Given the description of an element on the screen output the (x, y) to click on. 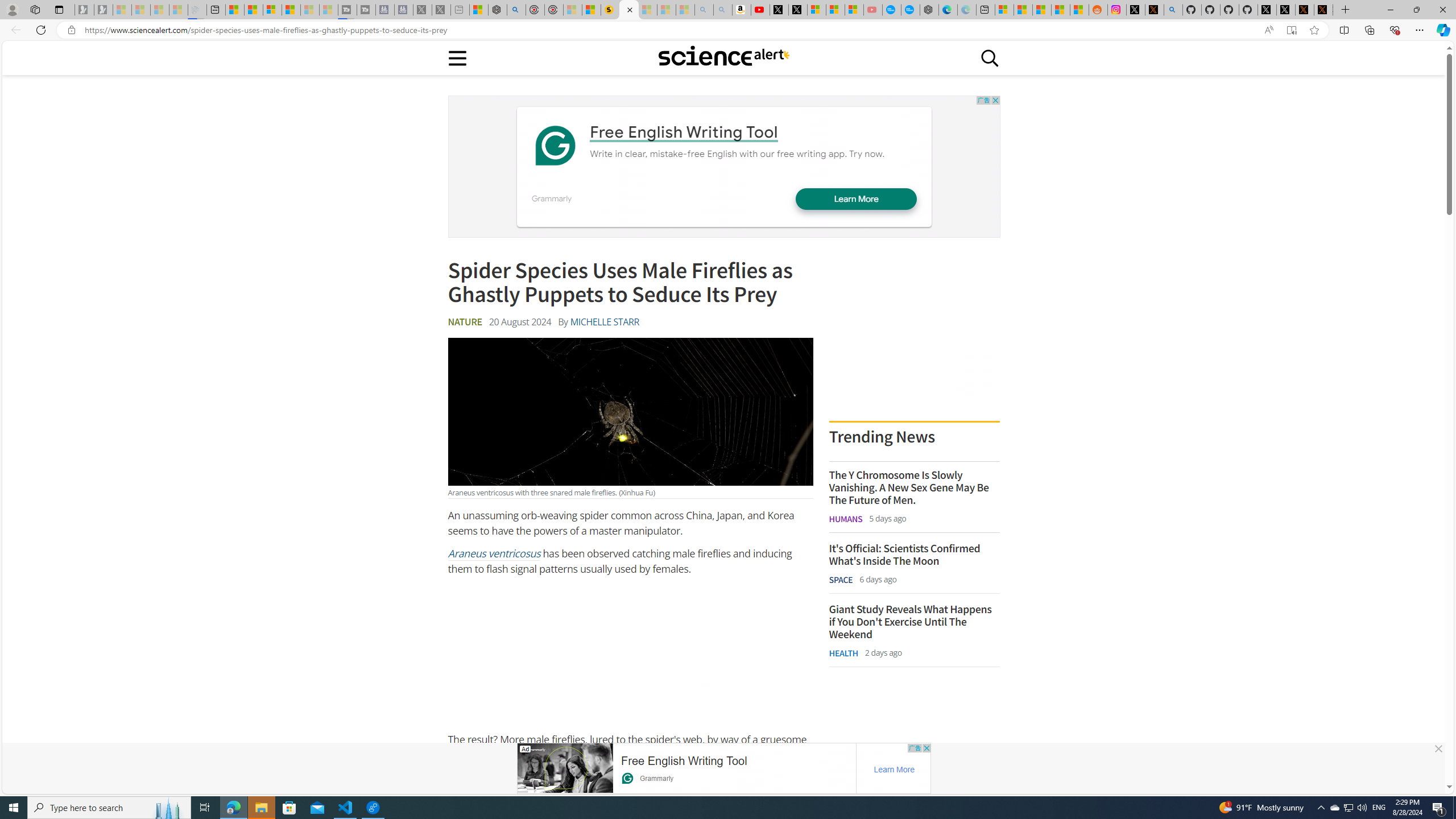
Amazon Echo Dot PNG - Search Images - Sleeping (722, 9)
Main menu (456, 57)
Shanghai, China hourly forecast | Microsoft Weather (1041, 9)
X - Sleeping (440, 9)
HUMANS (845, 518)
Shanghai, China weather forecast | Microsoft Weather (1022, 9)
